Given the description of an element on the screen output the (x, y) to click on. 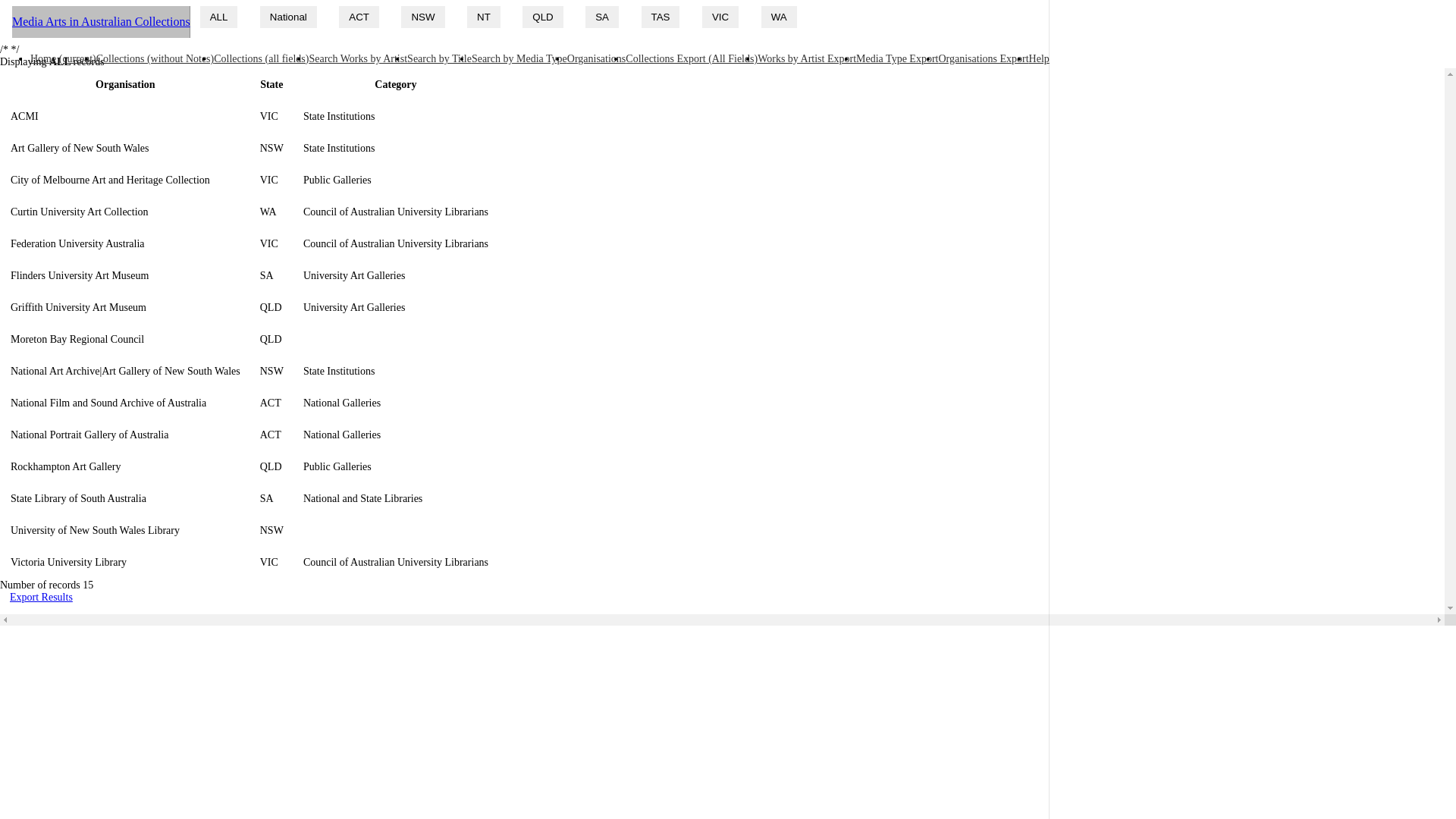
Help Element type: text (1039, 58)
Export Results Element type: text (41, 597)
Home (current) Element type: text (63, 58)
Search Works by Artist Element type: text (357, 58)
Media Type Export Element type: text (897, 58)
Collections Export (All Fields) Element type: text (691, 58)
Works by Artist Export Element type: text (806, 58)
ACT Element type: text (358, 17)
Organisations Export Element type: text (983, 58)
Collections (all fields) Element type: text (260, 58)
TAS Element type: text (660, 17)
NSW Element type: text (422, 17)
Organisations Element type: text (596, 58)
ALL Element type: text (219, 17)
NT Element type: text (483, 17)
Media Arts in Australian Collections Element type: text (101, 21)
National Element type: text (288, 17)
QLD Element type: text (542, 17)
VIC Element type: text (720, 17)
SA Element type: text (601, 17)
Search by Title Element type: text (439, 58)
WA Element type: text (779, 17)
Collections (without Notes) Element type: text (155, 58)
Search by Media Type Element type: text (519, 58)
